Given the description of an element on the screen output the (x, y) to click on. 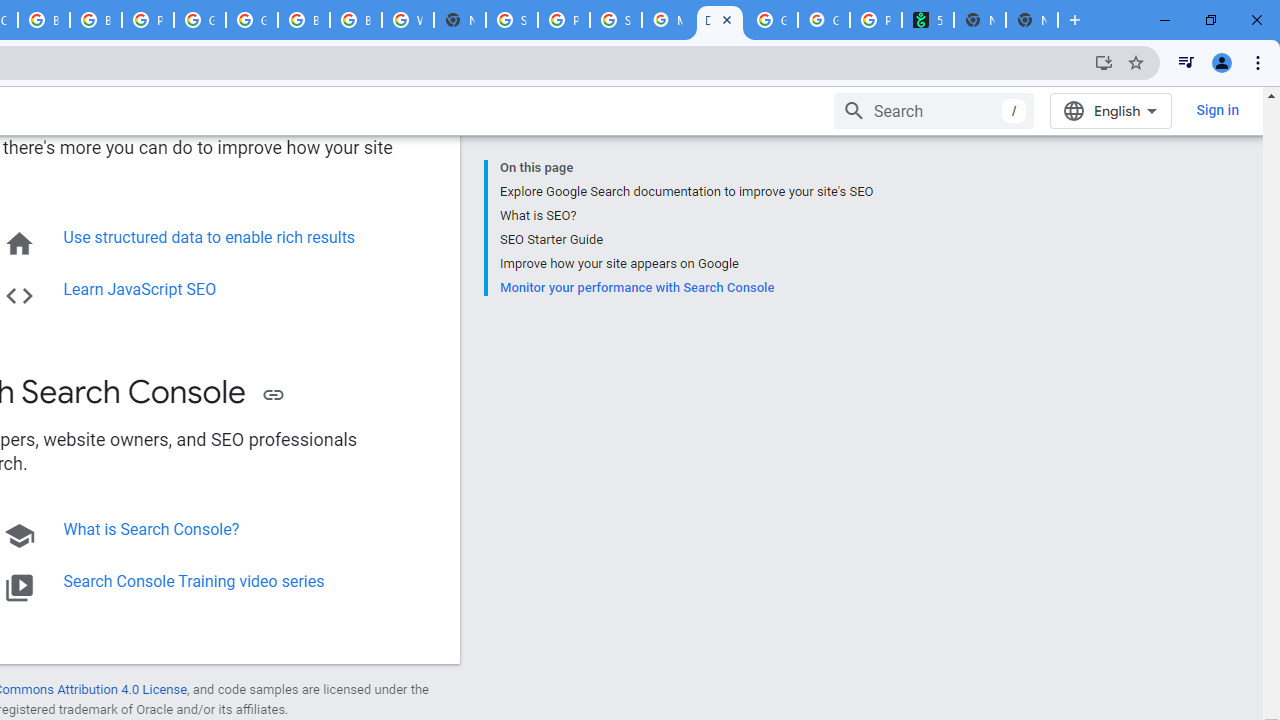
New Tab (459, 20)
English (1110, 110)
Search Console Training video series (193, 581)
What is SEO? (686, 215)
SEO Starter Guide (686, 239)
Learn JavaScript SEO (139, 289)
